Given the description of an element on the screen output the (x, y) to click on. 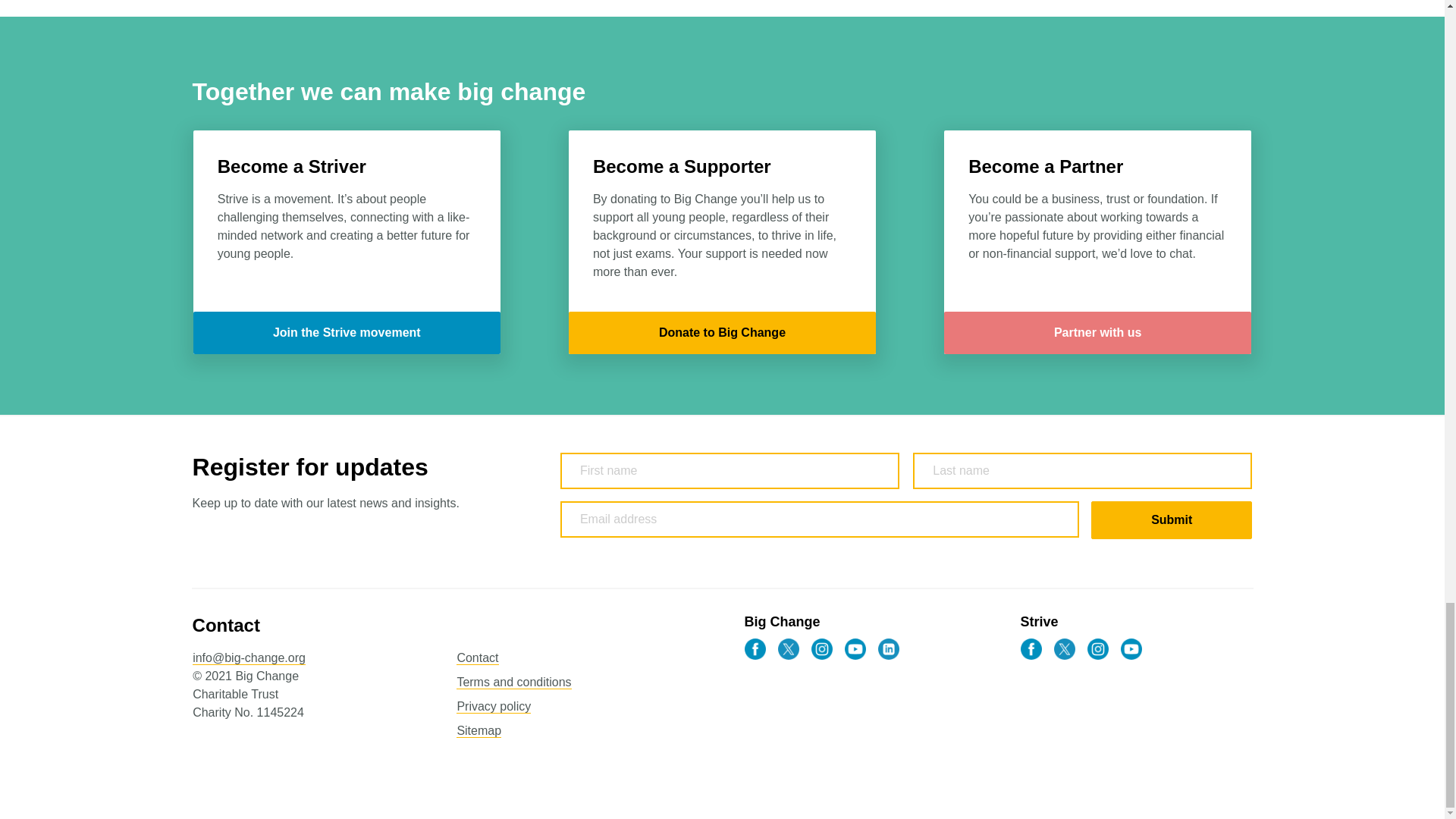
Submit (1171, 519)
